Given the description of an element on the screen output the (x, y) to click on. 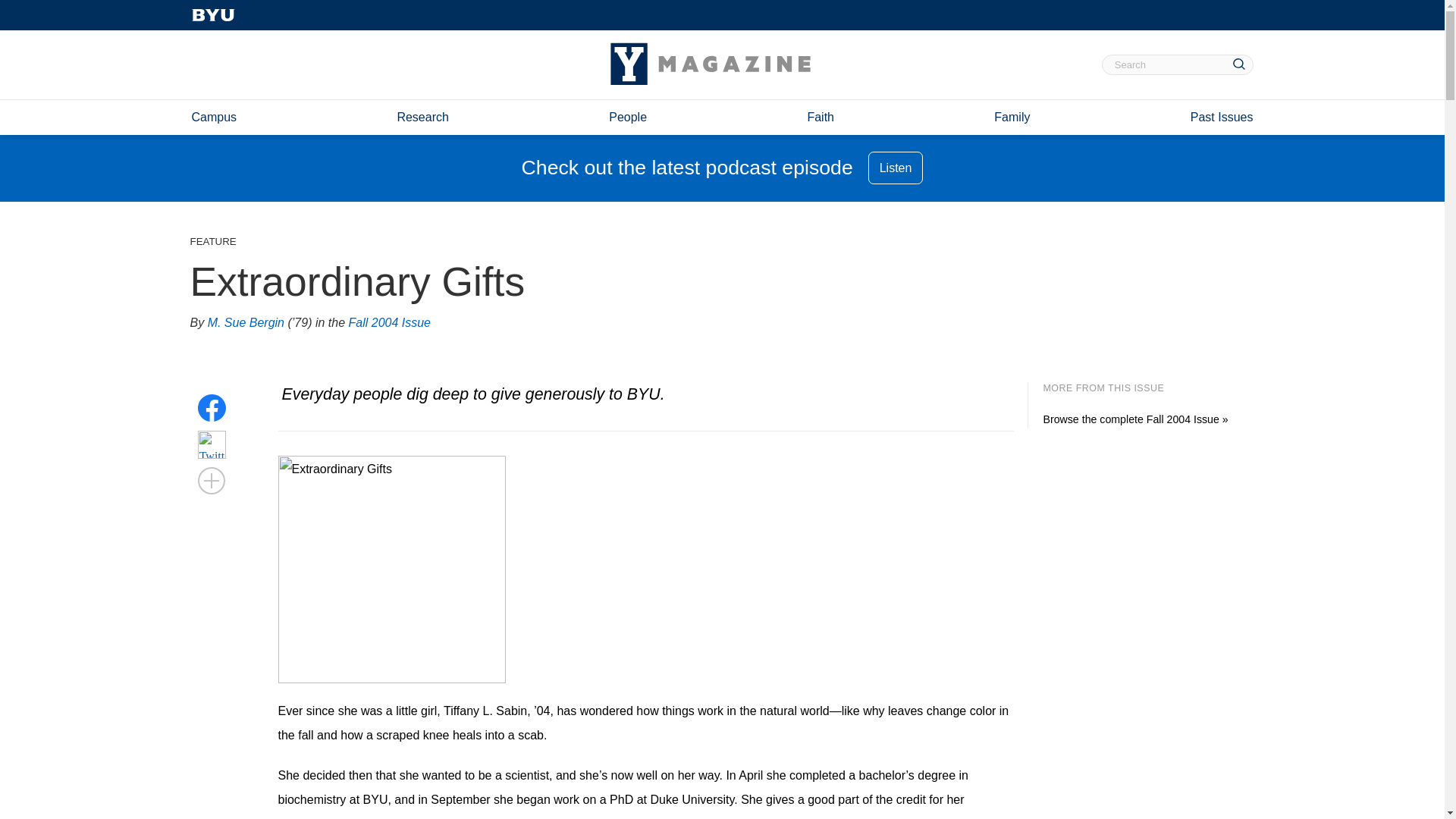
Research (422, 117)
Fall 2004 Issue (389, 323)
FEATURE (212, 241)
M. Sue Bergin (245, 323)
Check out the latest podcast episode (687, 167)
Past Issues (1222, 117)
Family (1011, 117)
Listen (895, 168)
Campus (212, 117)
People (627, 117)
